Given the description of an element on the screen output the (x, y) to click on. 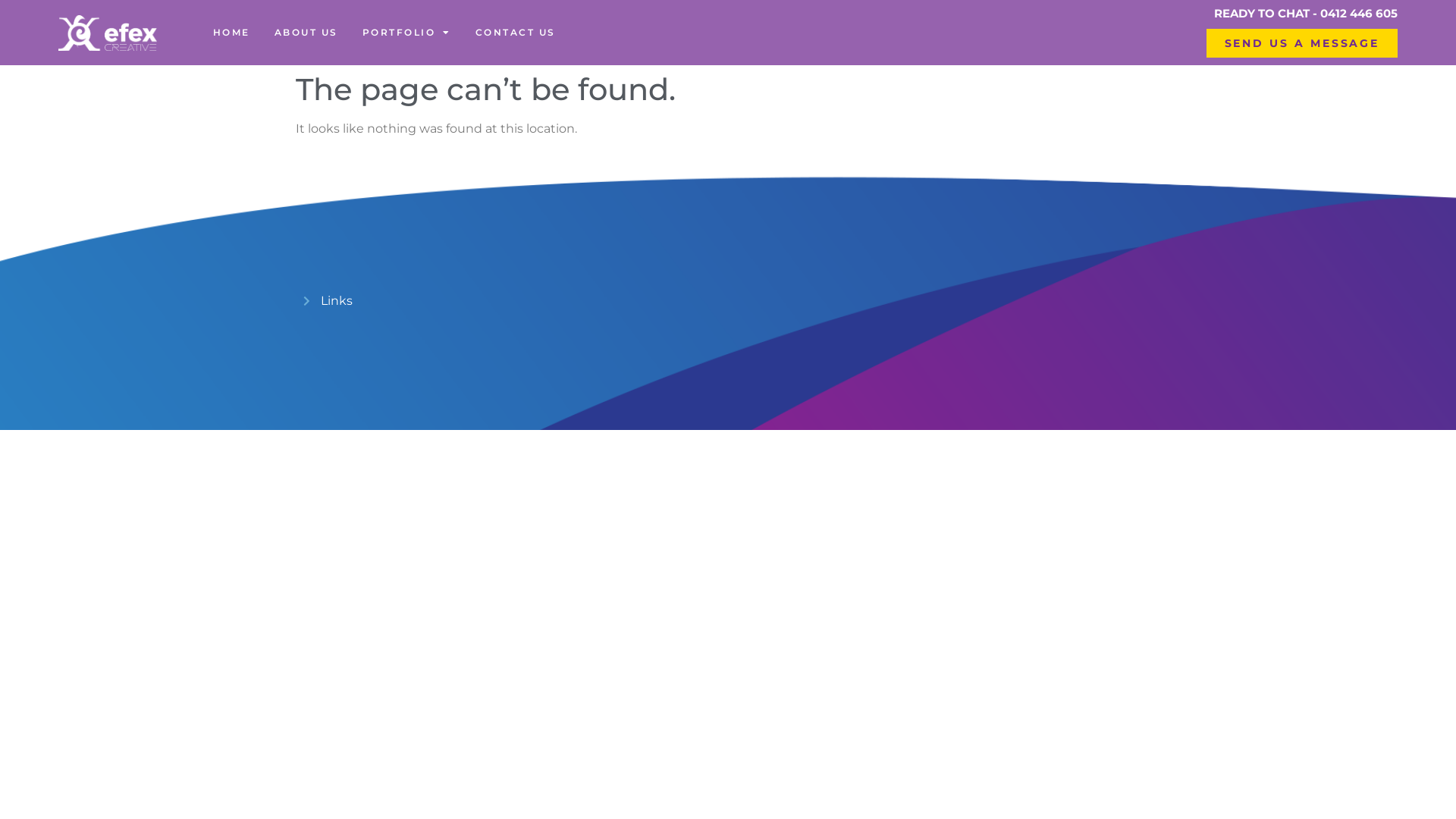
CONTACT US Element type: text (515, 32)
PORTFOLIO Element type: text (406, 32)
ABOUT US Element type: text (306, 32)
HOME Element type: text (231, 32)
Links Element type: text (727, 300)
READY TO CHAT - 0412 446 605 Element type: text (1305, 13)
SEND US A MESSAGE Element type: text (1302, 42)
